Given the description of an element on the screen output the (x, y) to click on. 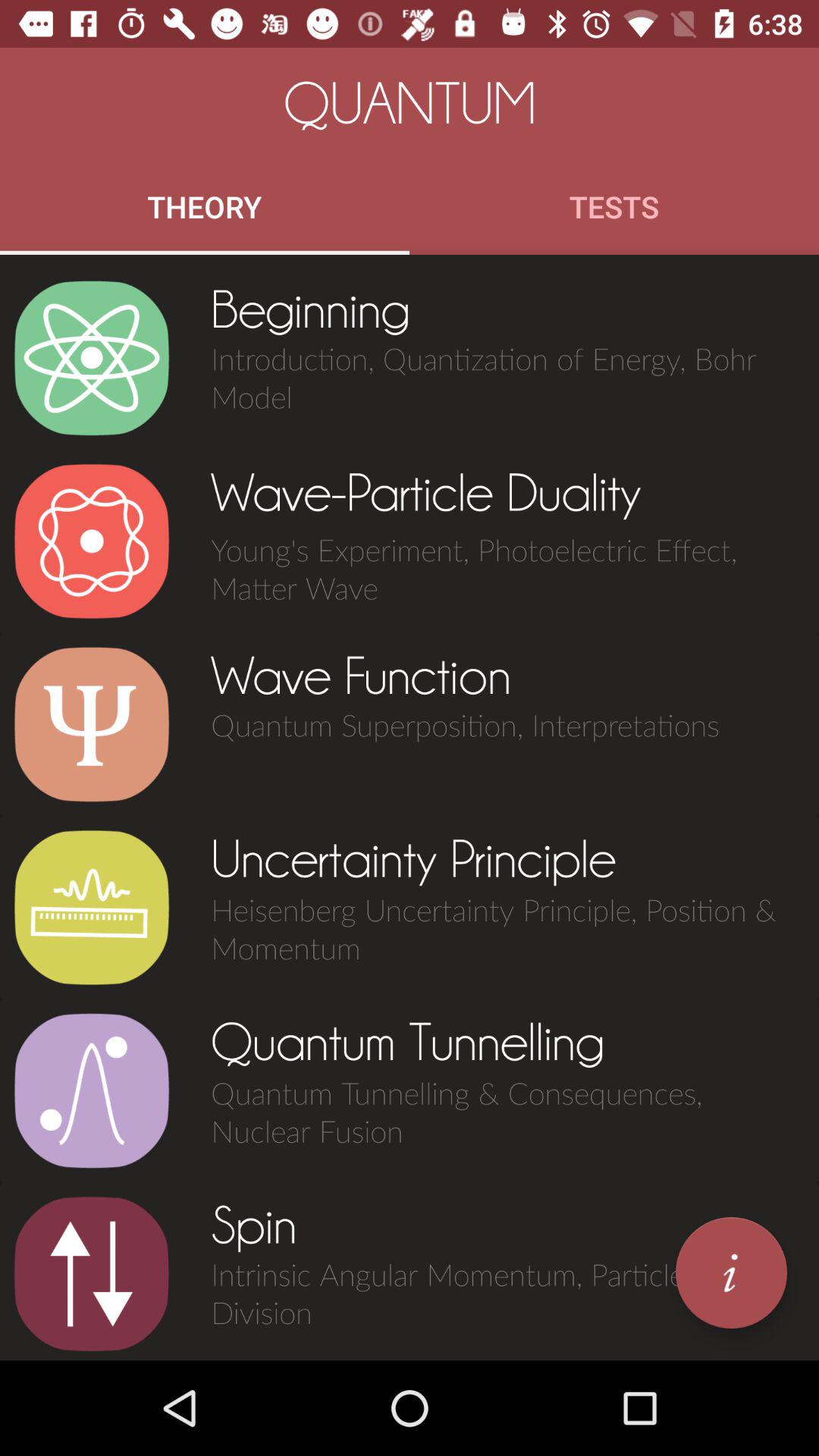
select item to the right of the spin icon (731, 1272)
